Given the description of an element on the screen output the (x, y) to click on. 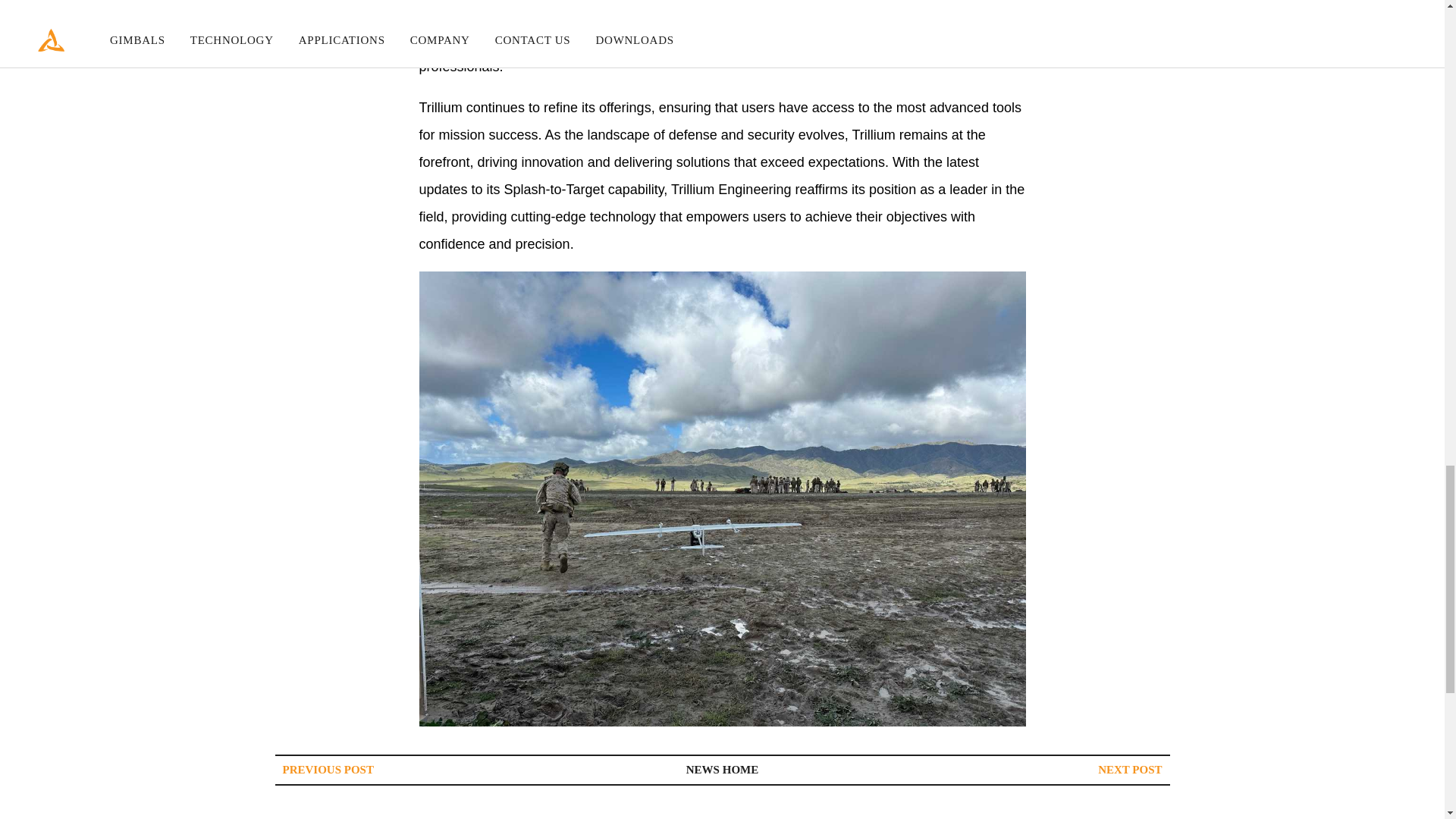
NEXT POST (1129, 769)
PREVIOUS POST (327, 769)
NEWS HOME (721, 769)
